Given the description of an element on the screen output the (x, y) to click on. 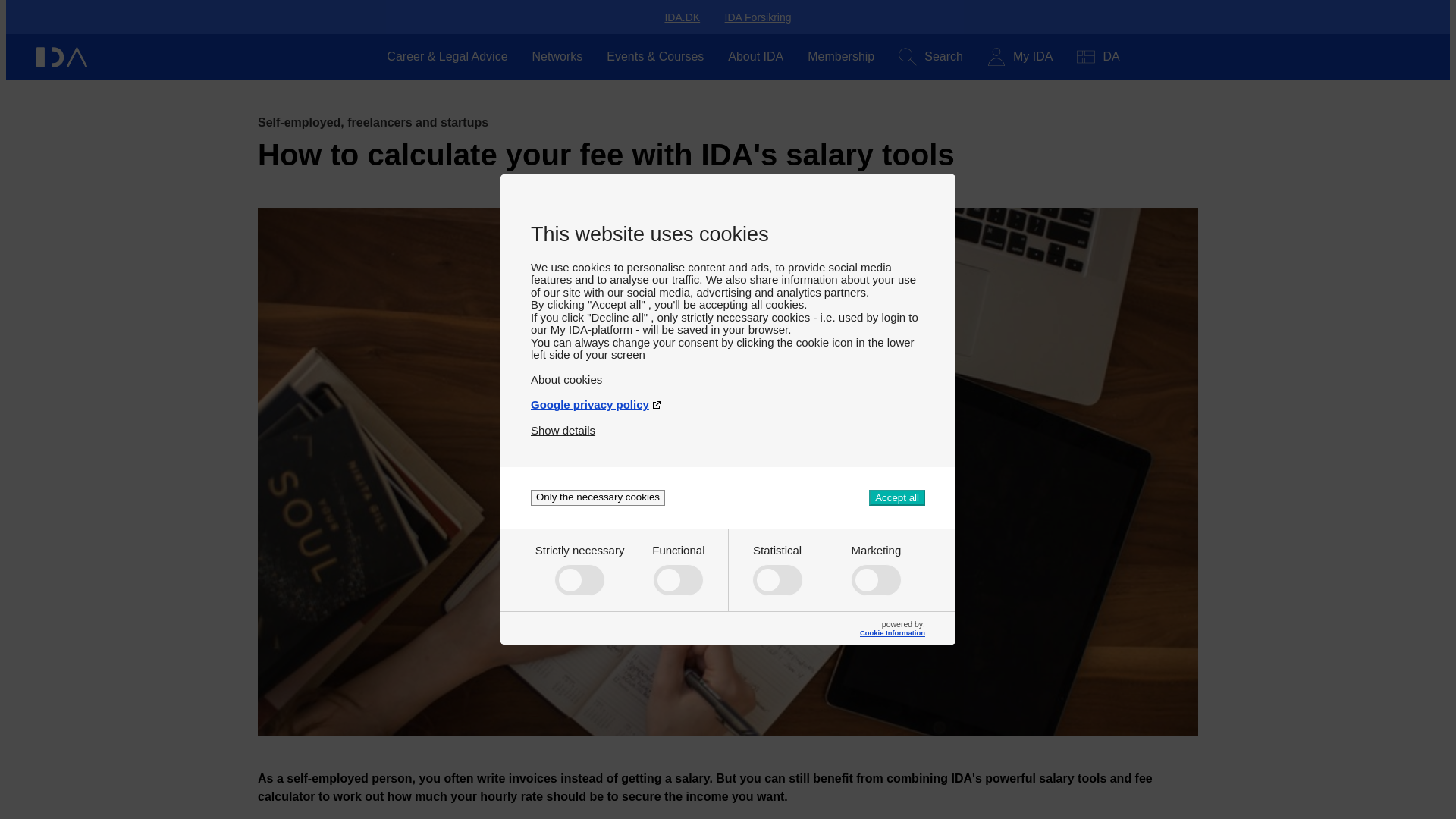
Google privacy policy (727, 398)
Show details (563, 423)
About cookies (727, 373)
